Given the description of an element on the screen output the (x, y) to click on. 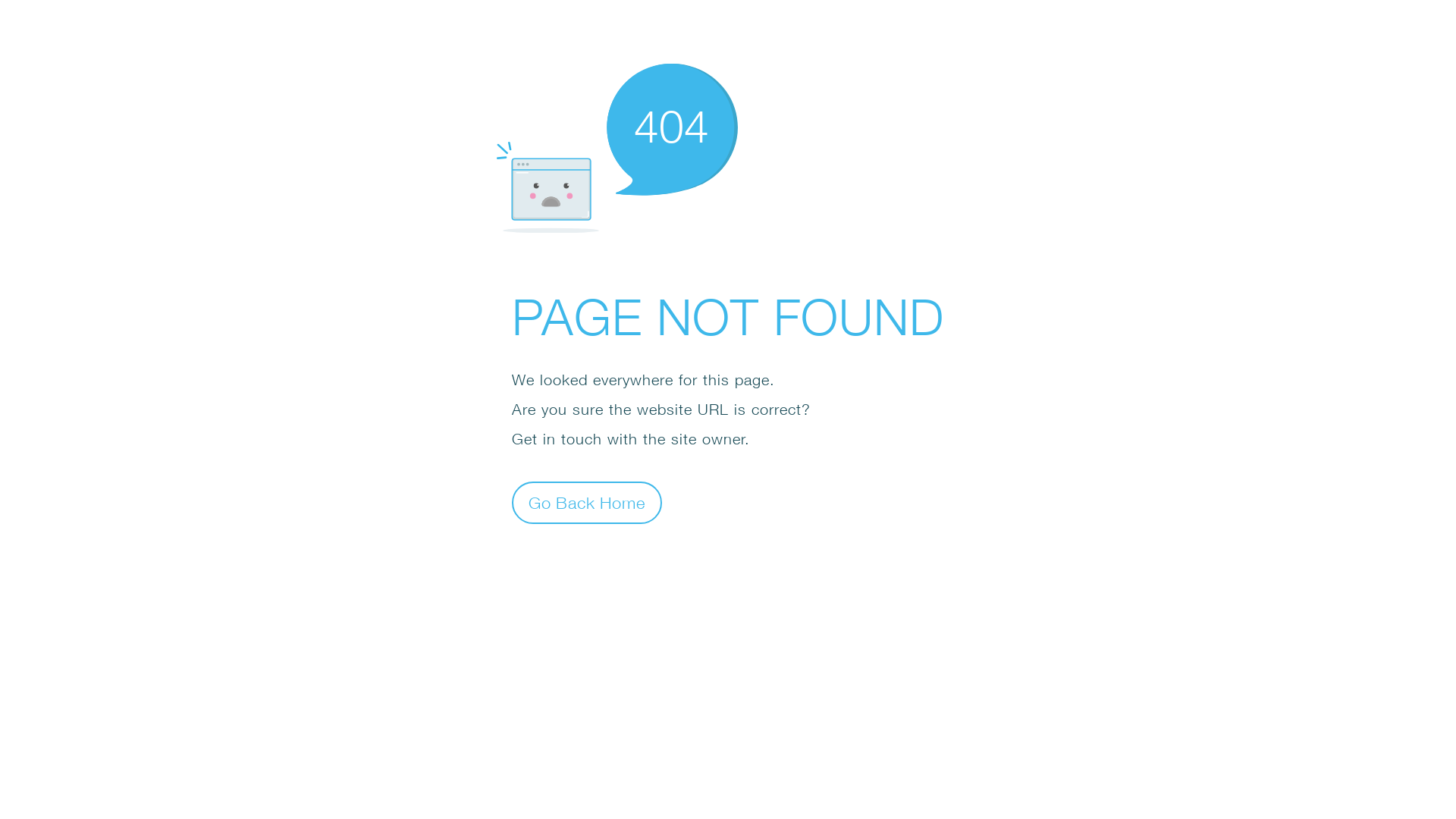
Go Back Home Element type: text (586, 502)
